Given the description of an element on the screen output the (x, y) to click on. 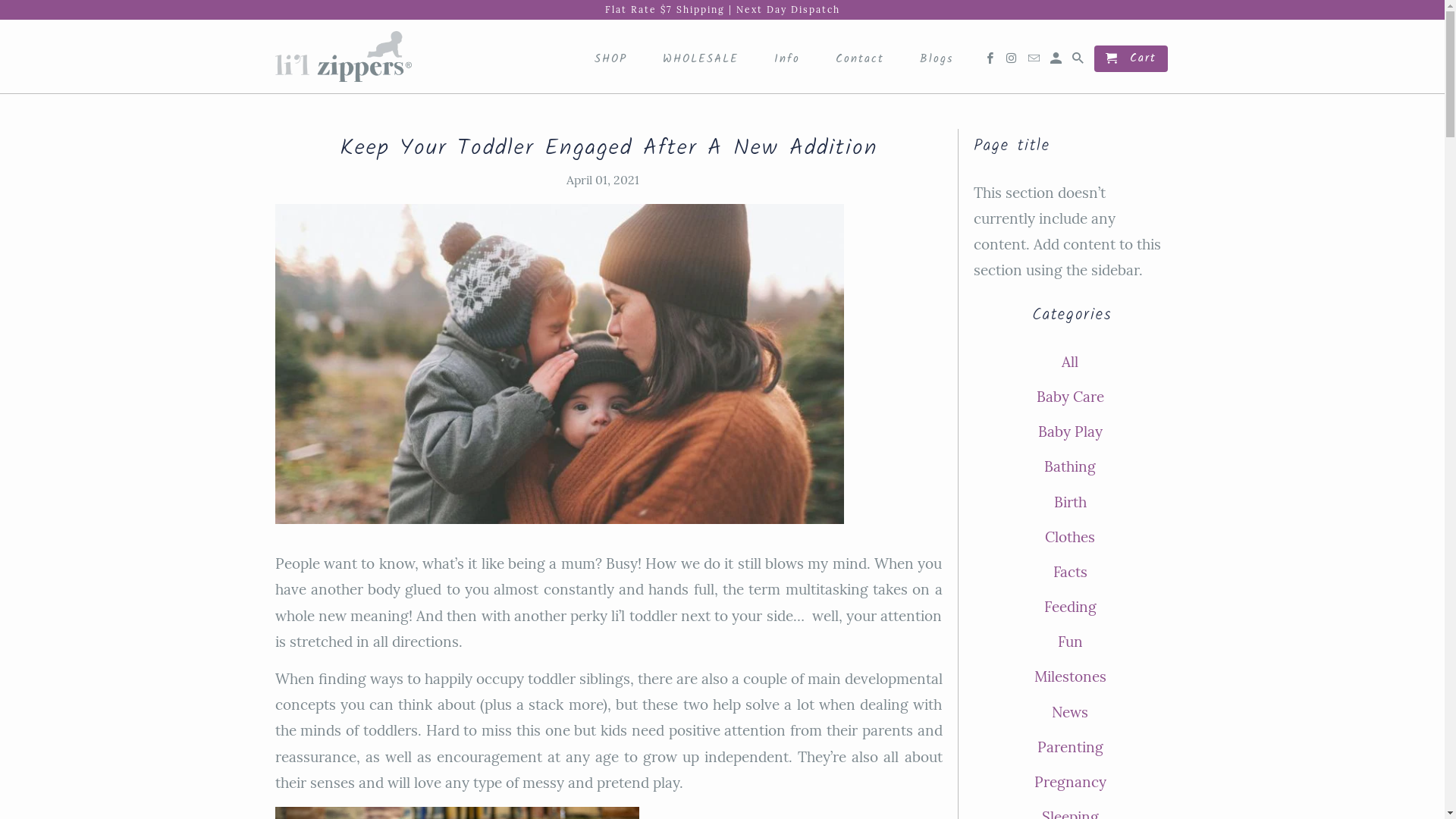
Birth Element type: text (1065, 501)
Milestones Element type: text (1065, 676)
Baby Care Element type: text (1064, 396)
Li'l Zippers on Facebook Element type: hover (990, 61)
News Element type: text (1065, 711)
Parenting Element type: text (1065, 746)
Li'l Zippers on Instagram Element type: hover (1012, 61)
All Element type: text (1065, 361)
Facts Element type: text (1064, 571)
Search Element type: hover (1078, 61)
My Account  Element type: hover (1056, 61)
Baby Play Element type: text (1064, 431)
Fun Element type: text (1065, 641)
Li'l Zippers Element type: hover (342, 56)
Bathing Element type: text (1065, 466)
Email Li'l Zippers Element type: hover (1034, 61)
Pregnancy Element type: text (1065, 781)
Clothes Element type: text (1065, 536)
Feeding Element type: text (1064, 606)
Cart Element type: text (1130, 58)
